Given the description of an element on the screen output the (x, y) to click on. 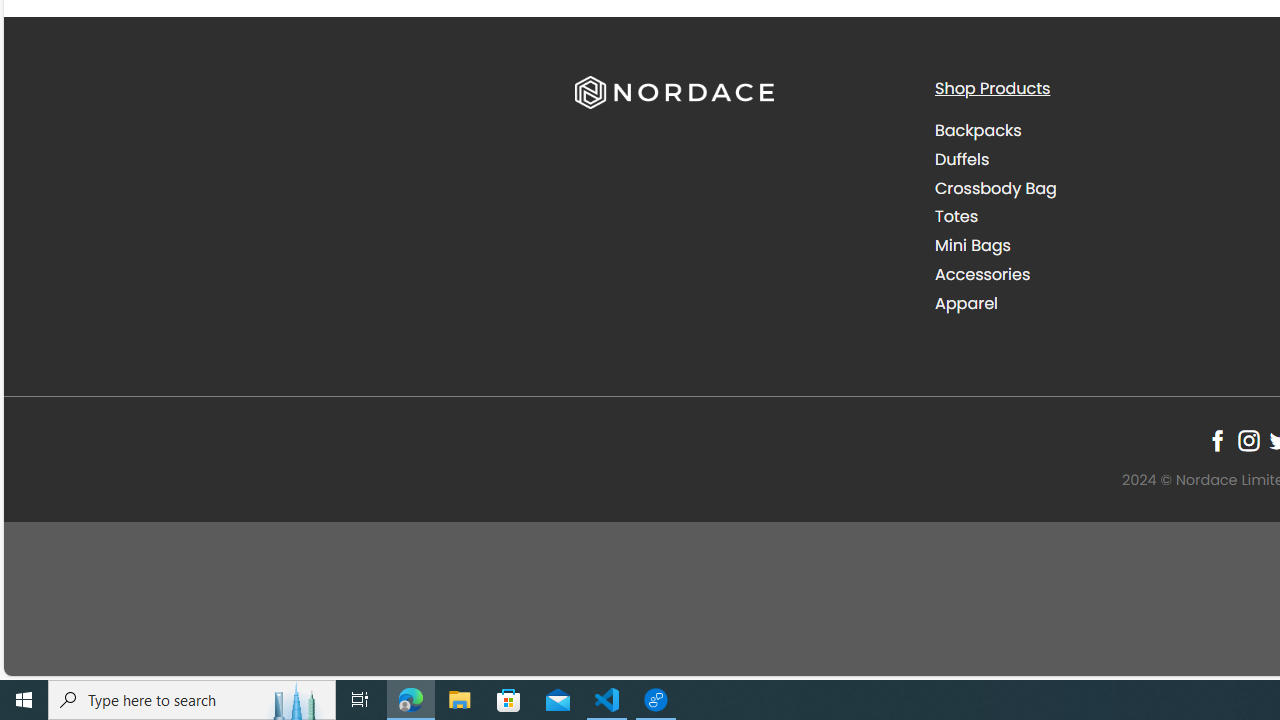
Mini Bags (972, 245)
Accessories (1099, 274)
Backpacks (1099, 131)
Mini Bags (1099, 246)
Totes (955, 216)
Crossbody Bag (995, 187)
Follow on Facebook (1217, 440)
Apparel (966, 302)
Duffels (1099, 159)
Accessories (982, 273)
Totes (1099, 216)
Backpacks (977, 130)
Crossbody Bag (1099, 188)
Apparel (1099, 303)
Duffels (961, 158)
